Given the description of an element on the screen output the (x, y) to click on. 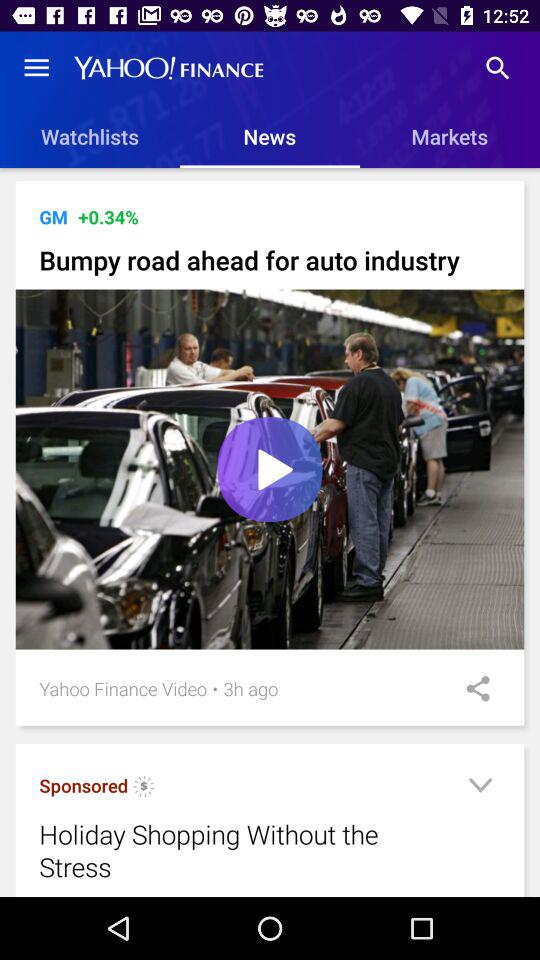
turn on the item above markets (497, 67)
